Given the description of an element on the screen output the (x, y) to click on. 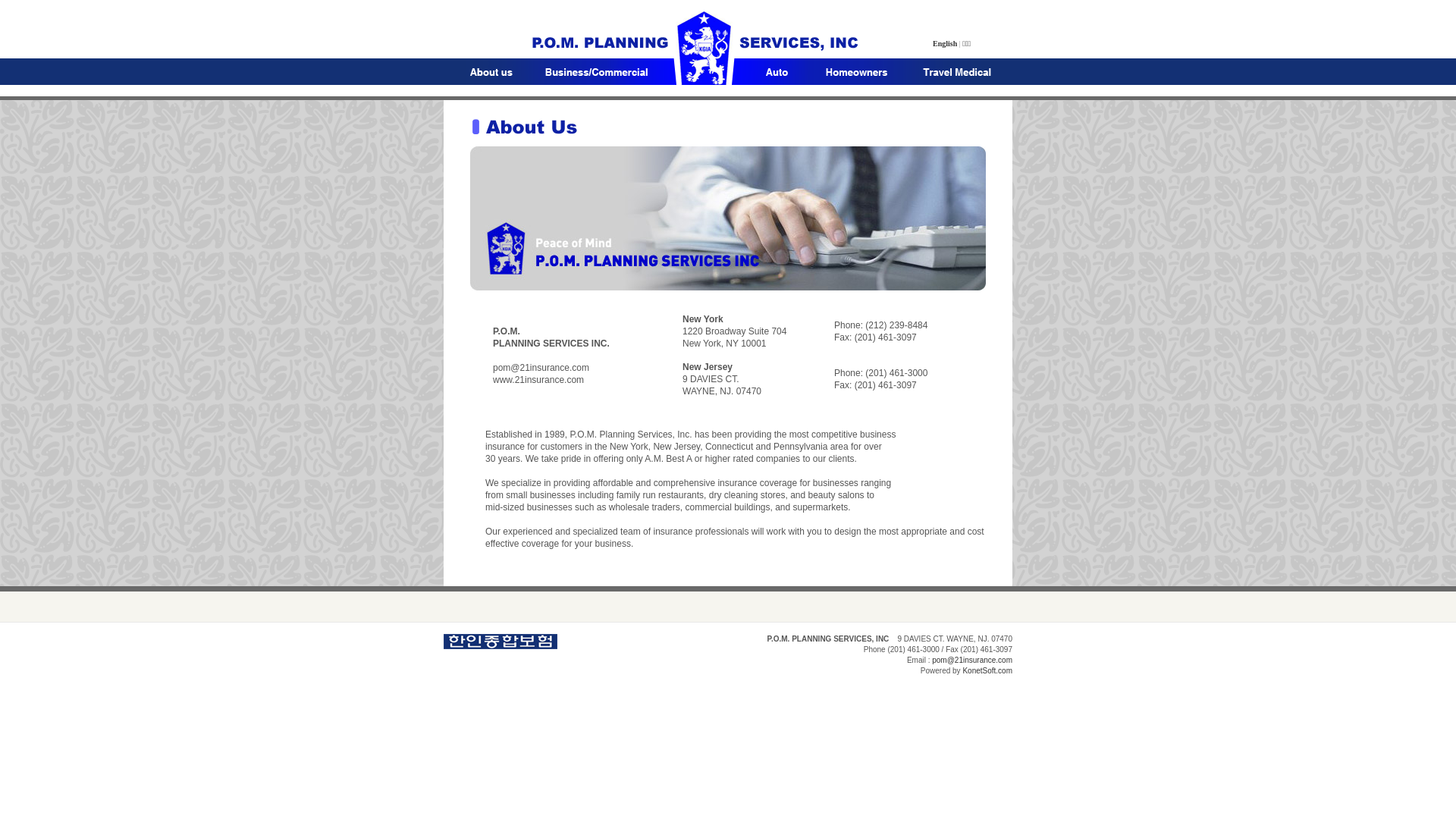
pom@21insurance.com Element type: text (971, 659)
KonetSoft.com Element type: text (987, 670)
